Given the description of an element on the screen output the (x, y) to click on. 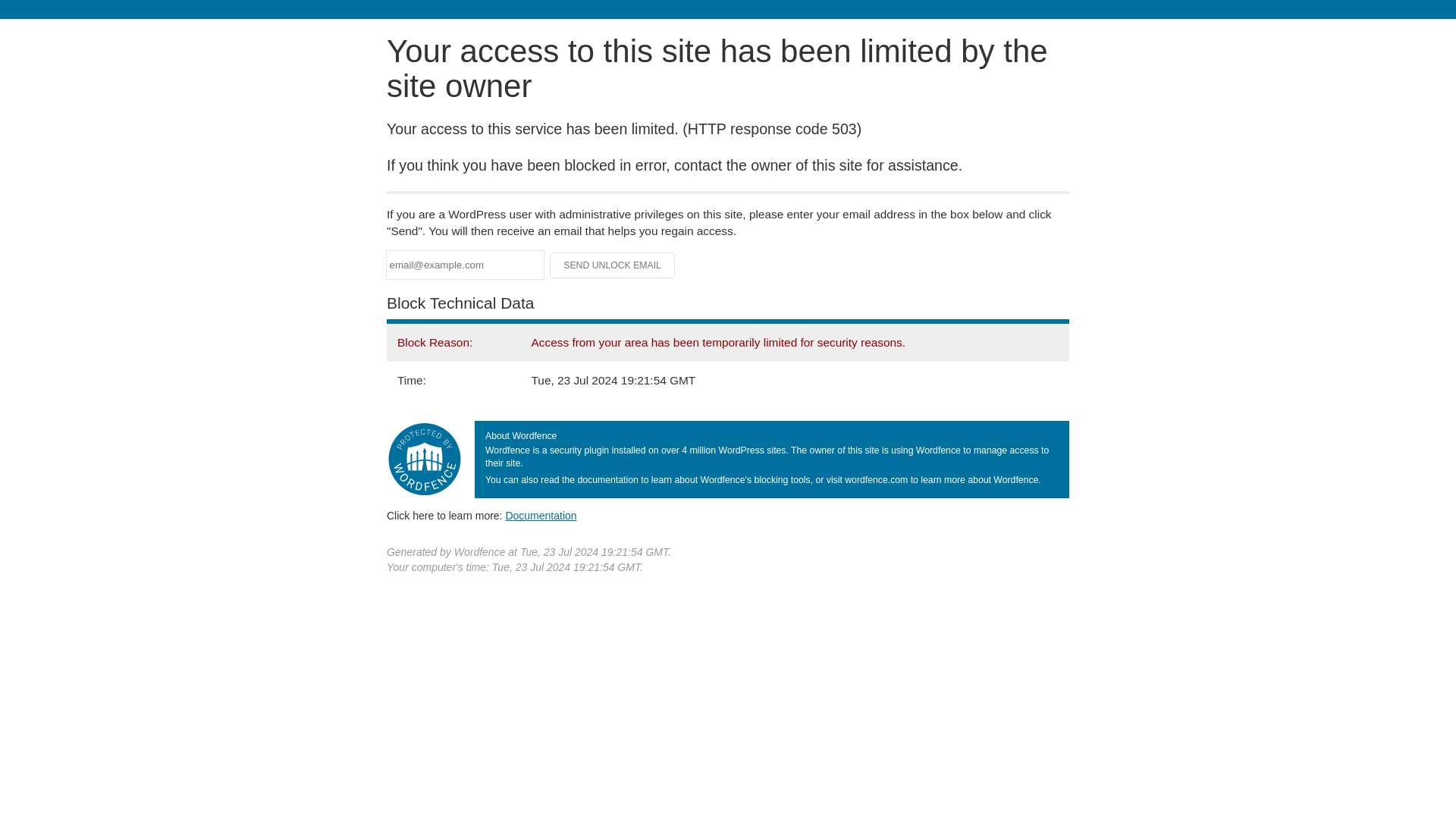
Documentation (540, 515)
Send Unlock Email (612, 265)
Send Unlock Email (612, 265)
